Given the description of an element on the screen output the (x, y) to click on. 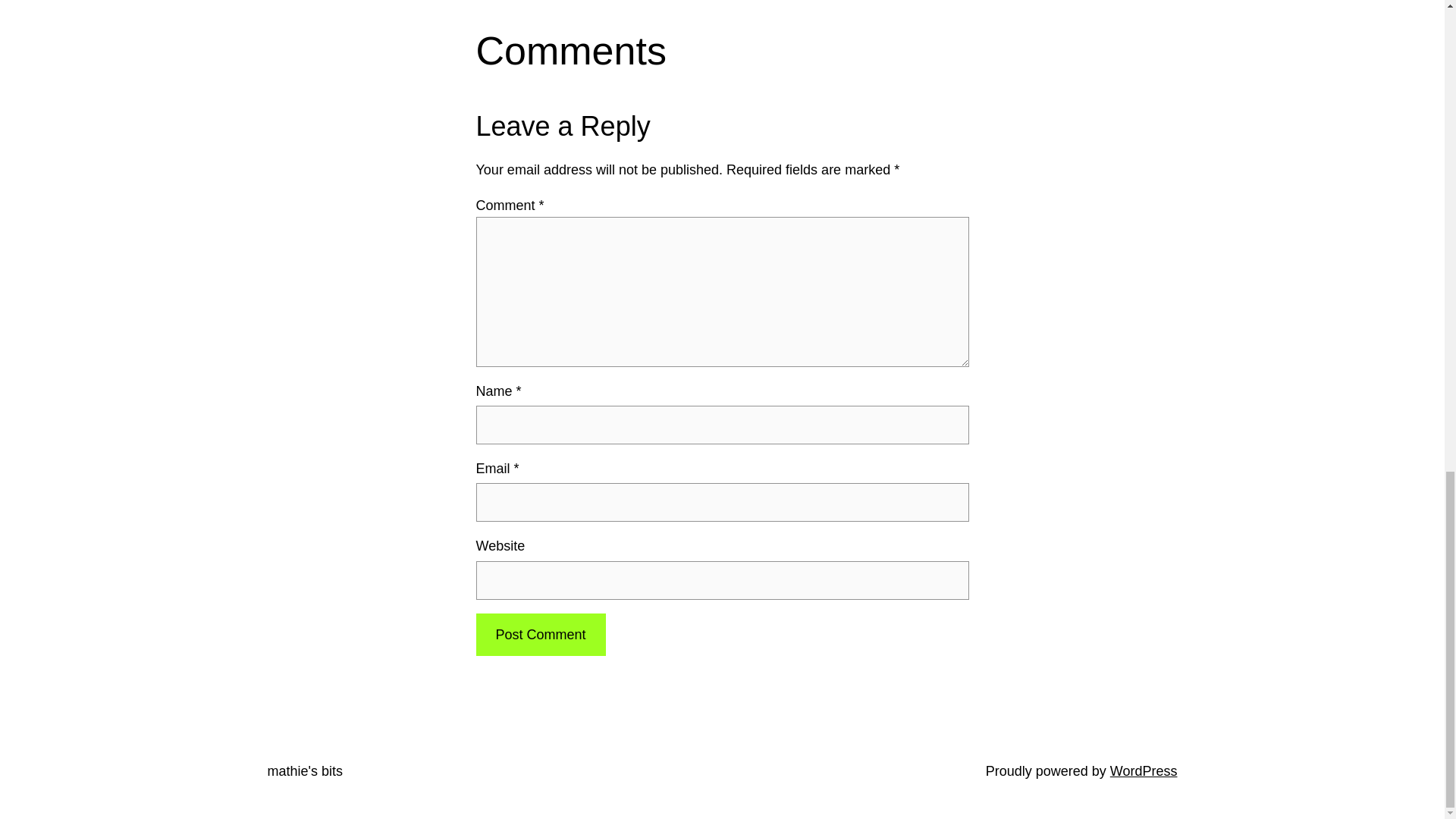
WordPress (1143, 770)
mathie's bits (304, 770)
Post Comment (540, 634)
Post Comment (540, 634)
